Given the description of an element on the screen output the (x, y) to click on. 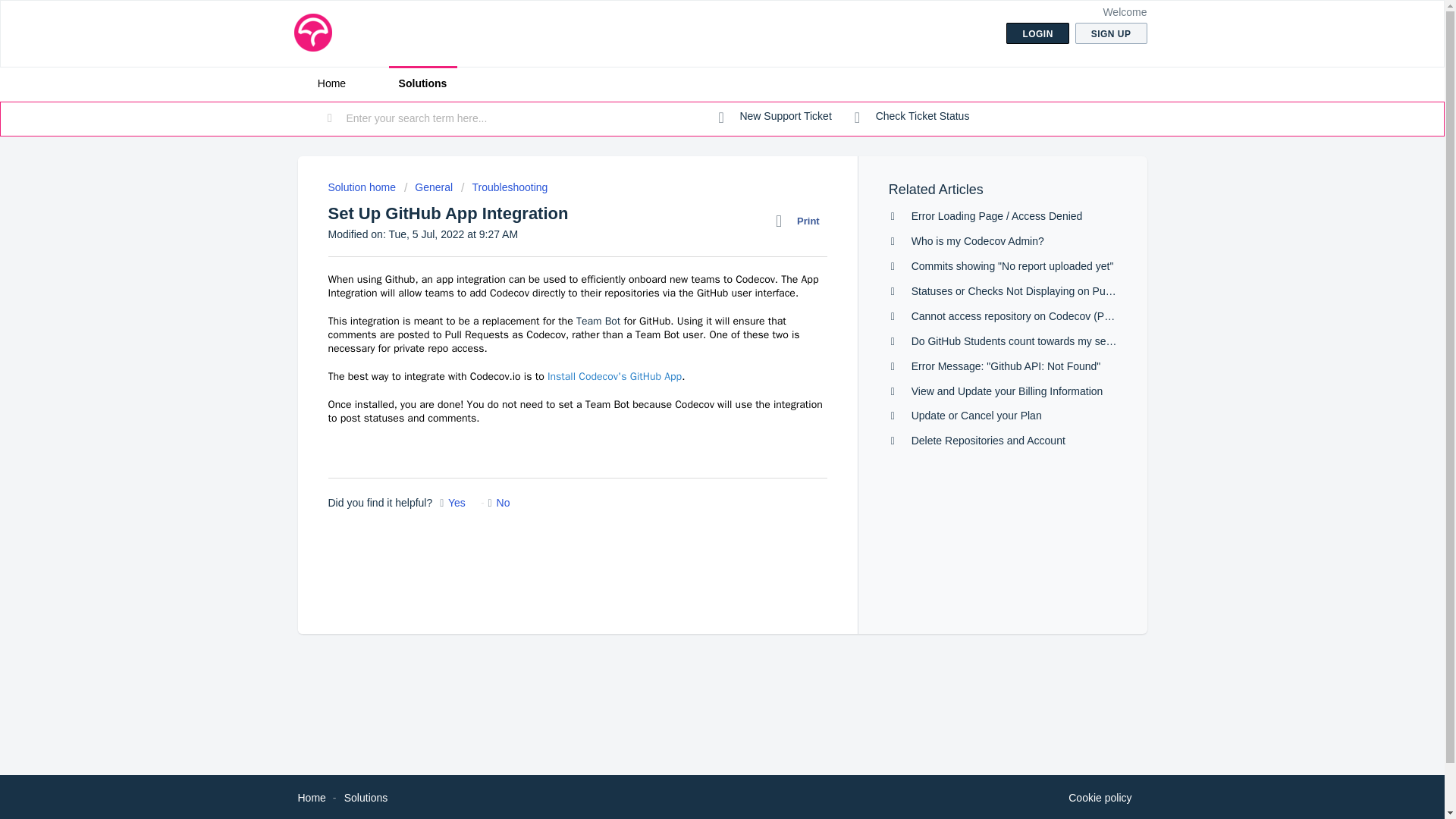
Error Message: "Github API: Not Found" (1005, 366)
Delete Repositories and Account (988, 440)
Check ticket status (911, 116)
LOGIN (1037, 33)
Commits showing "No report uploaded yet" (1012, 265)
Troubleshooting (504, 186)
Cookie policy (1099, 798)
Check Ticket Status (911, 116)
Install Codecov's GitHub App (614, 376)
Print (801, 220)
